Given the description of an element on the screen output the (x, y) to click on. 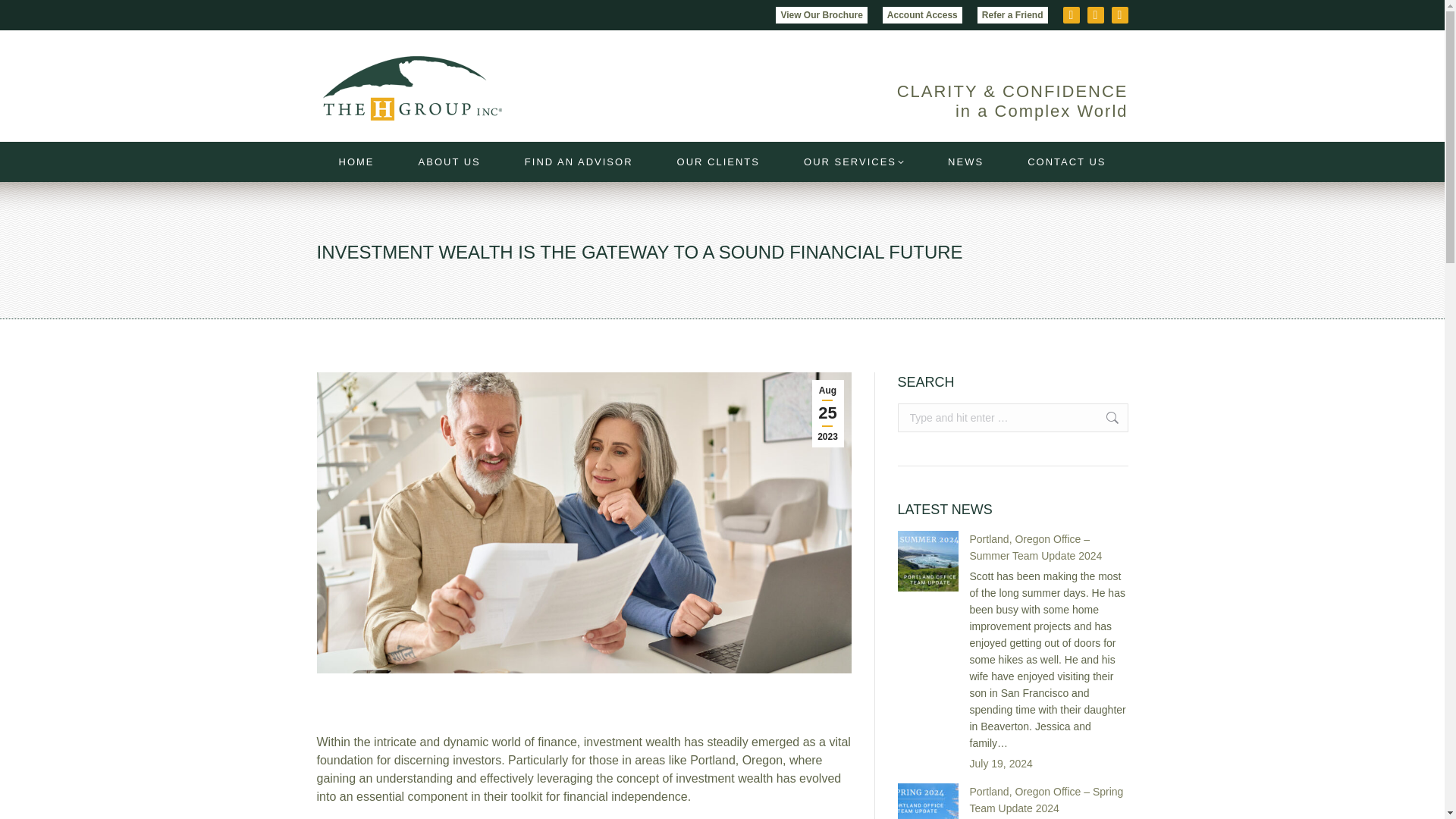
View Our Brochure (821, 14)
Linkedin page opens in new window (1120, 14)
Refer a Friend (1012, 14)
Linkedin page opens in new window (1120, 14)
Go! (1090, 417)
NEWS (966, 161)
HOME (356, 161)
X page opens in new window (1071, 14)
Account Access (922, 14)
Go! (1090, 417)
X page opens in new window (1071, 14)
OUR CLIENTS (718, 161)
OUR SERVICES (853, 161)
Facebook page opens in new window (1095, 14)
